Given the description of an element on the screen output the (x, y) to click on. 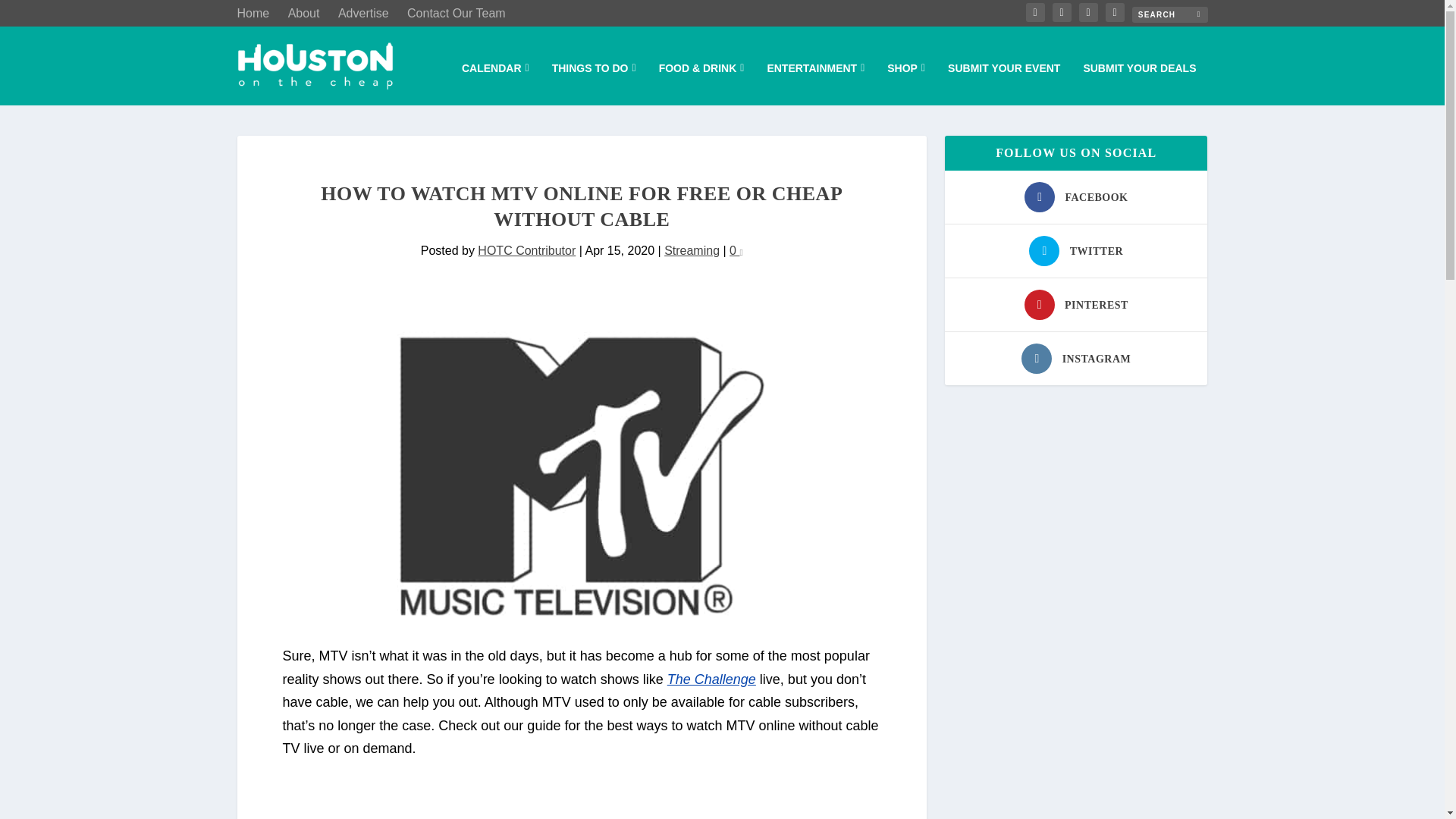
Advertise (362, 13)
Posts by HOTC Contributor (526, 250)
CALENDAR (495, 84)
Home (252, 13)
THINGS TO DO (593, 84)
Search for: (1169, 14)
Contact Our Team (456, 13)
SHOP (905, 84)
About (304, 13)
ENTERTAINMENT (815, 84)
